Given the description of an element on the screen output the (x, y) to click on. 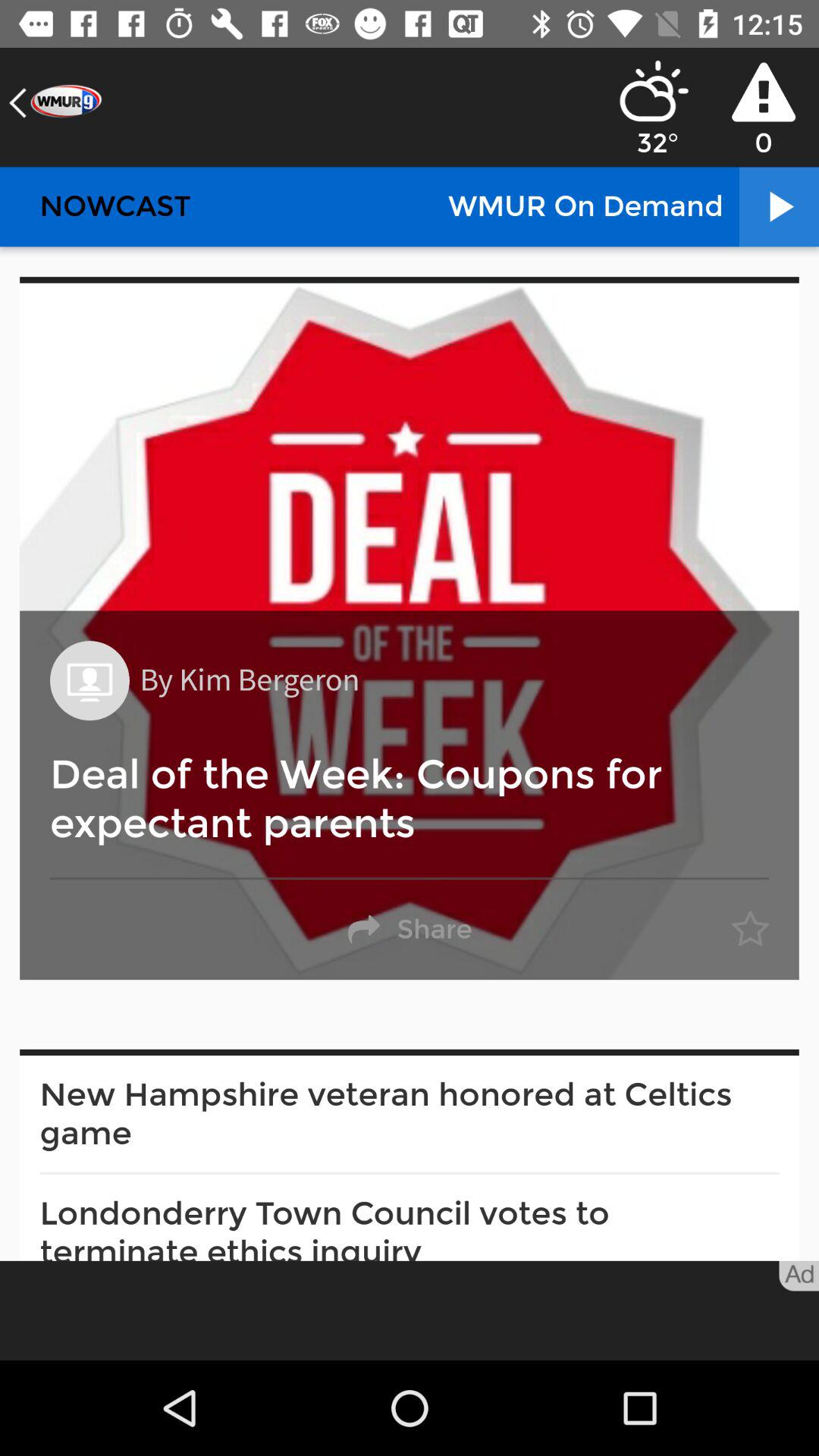
turn off item to the left of the by kim bergeron item (89, 680)
